Given the description of an element on the screen output the (x, y) to click on. 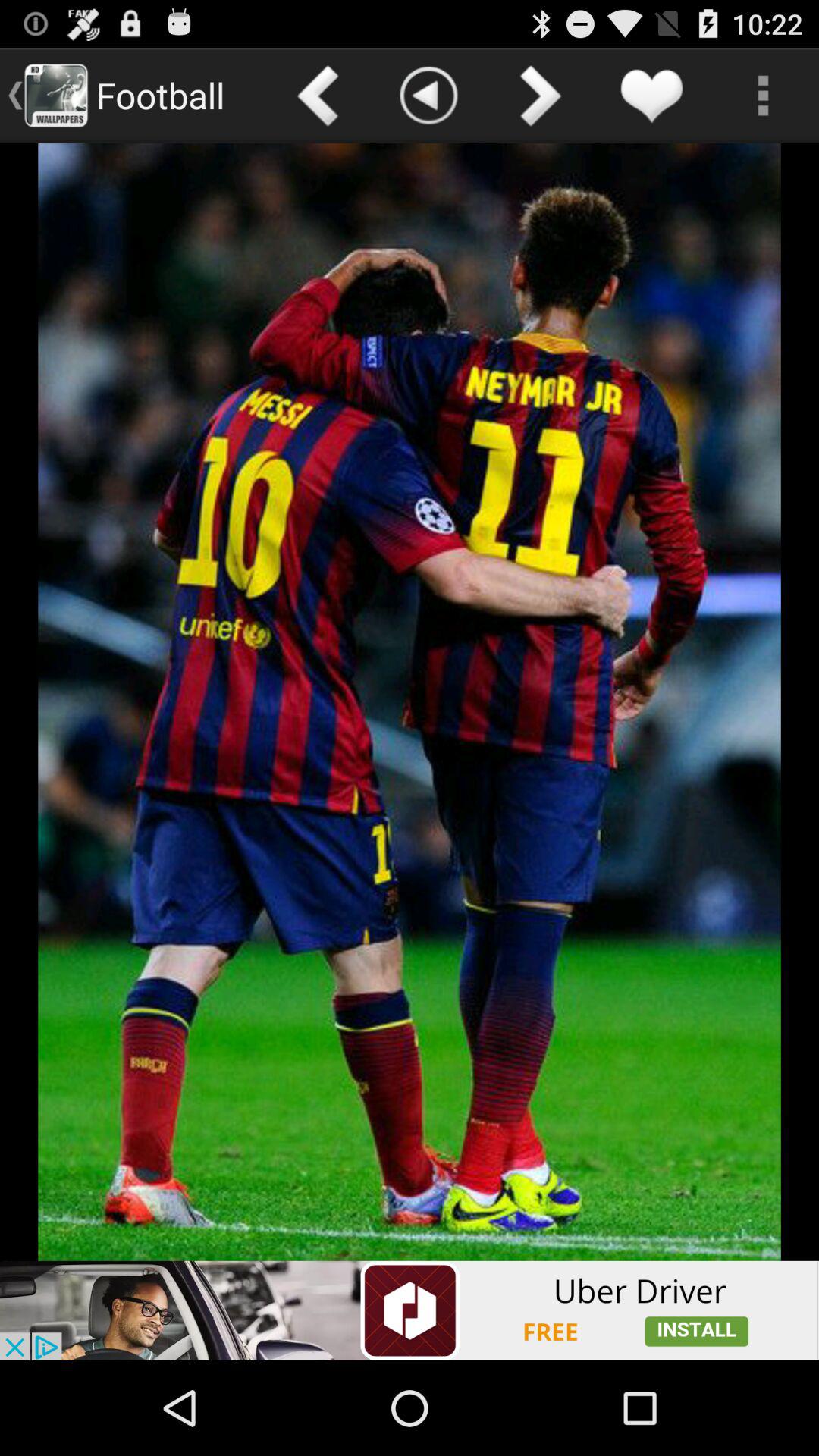
go to settings (763, 95)
